Given the description of an element on the screen output the (x, y) to click on. 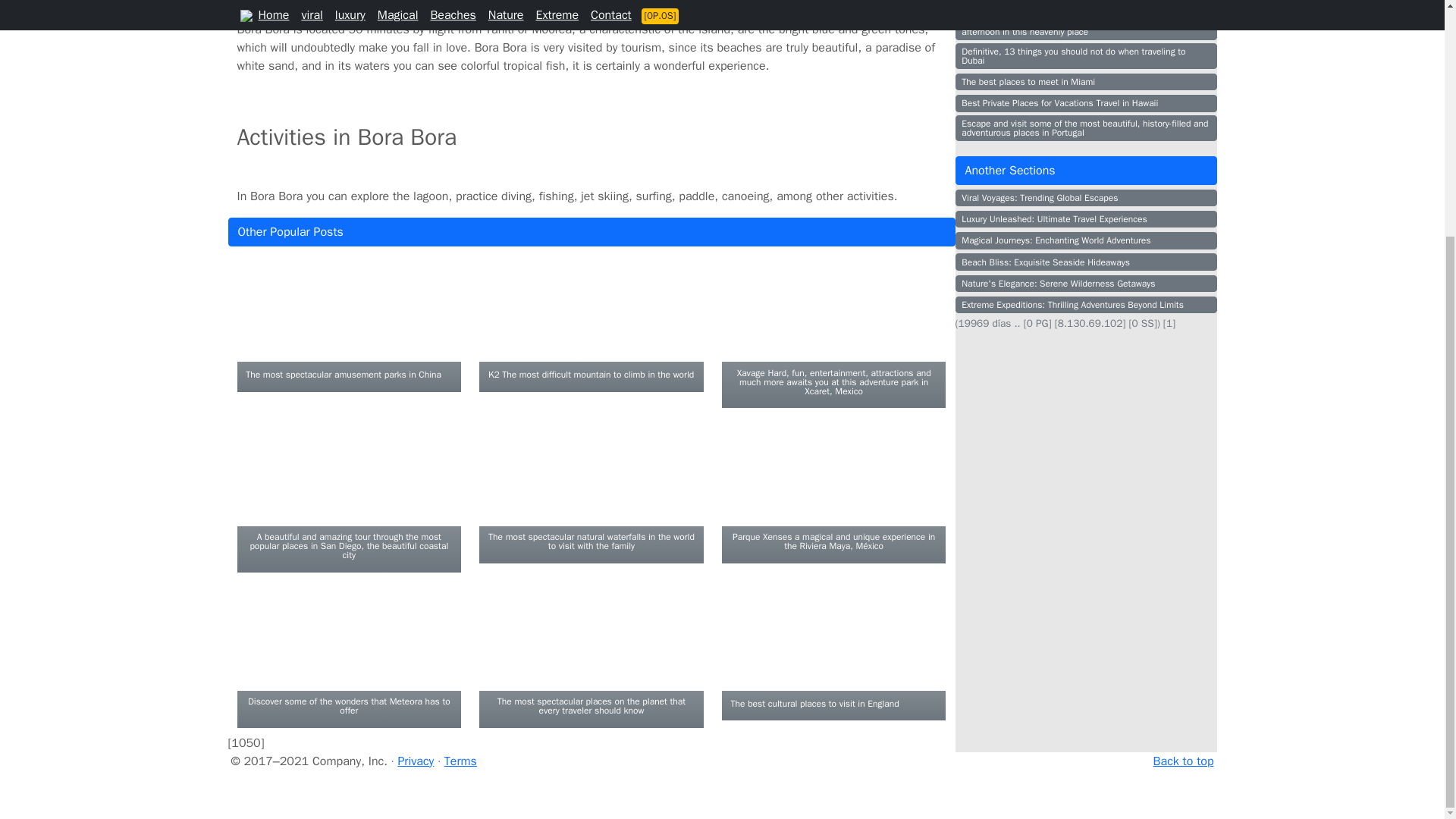
K2 The most difficult mountain to climb in the world (590, 373)
The most spectacular amusement parks in China (343, 373)
